Given the description of an element on the screen output the (x, y) to click on. 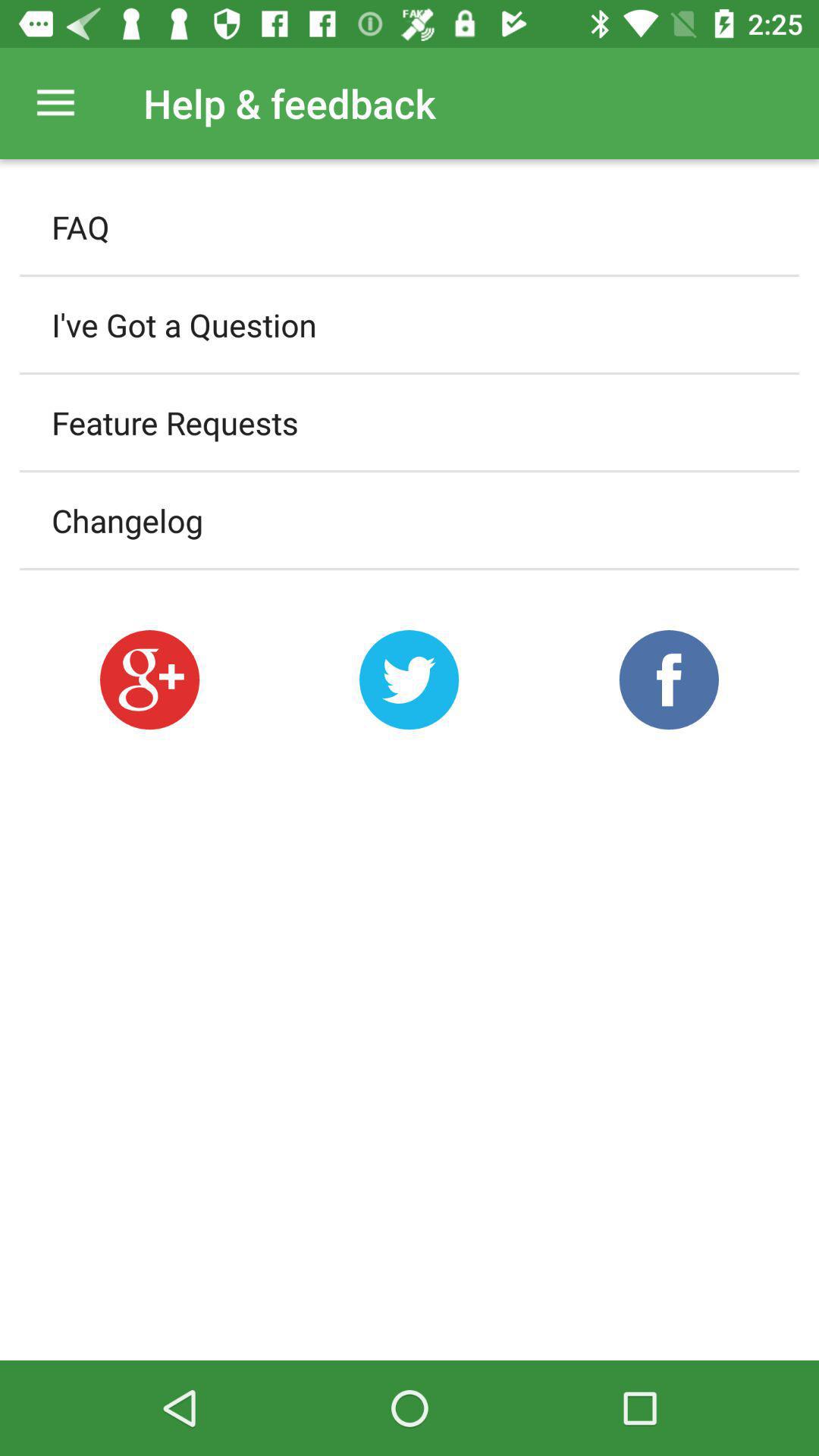
scroll until the faq (409, 226)
